Given the description of an element on the screen output the (x, y) to click on. 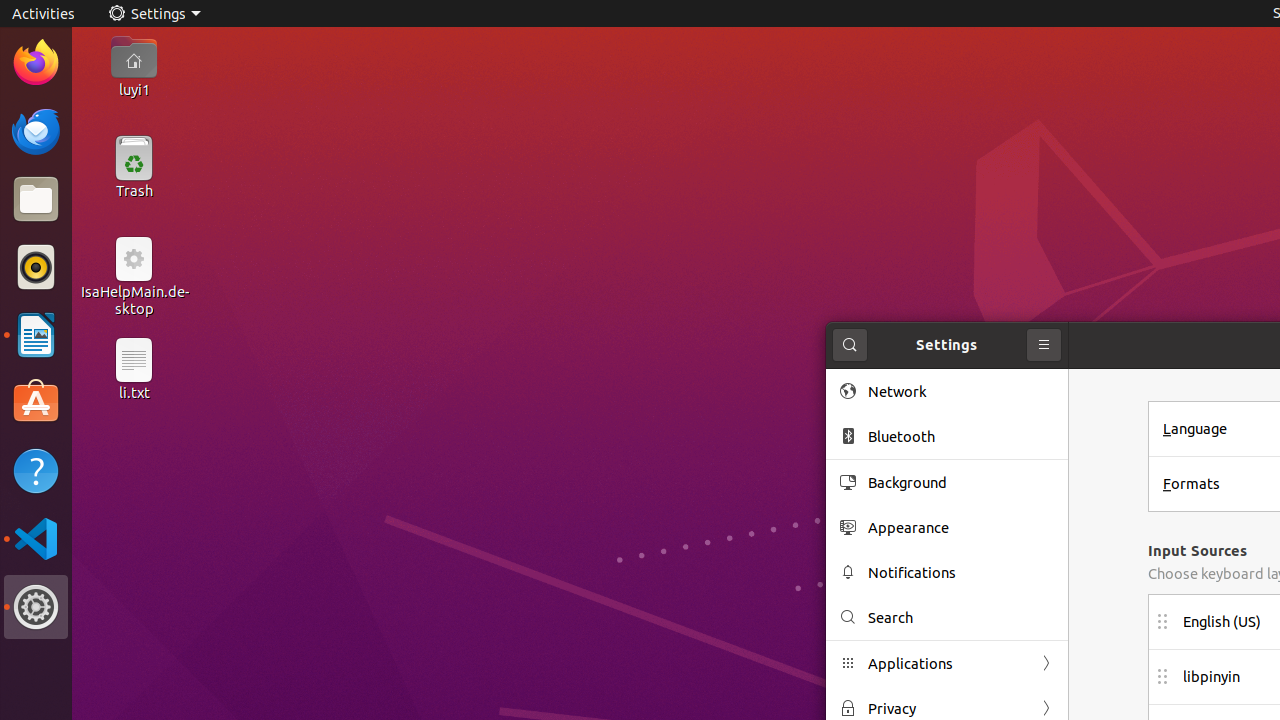
Rhythmbox Element type: push-button (36, 267)
Visual Studio Code Element type: push-button (36, 538)
Settings Element type: menu (154, 13)
Primary Menu Element type: toggle-button (1044, 345)
Settings Element type: push-button (36, 607)
